Given the description of an element on the screen output the (x, y) to click on. 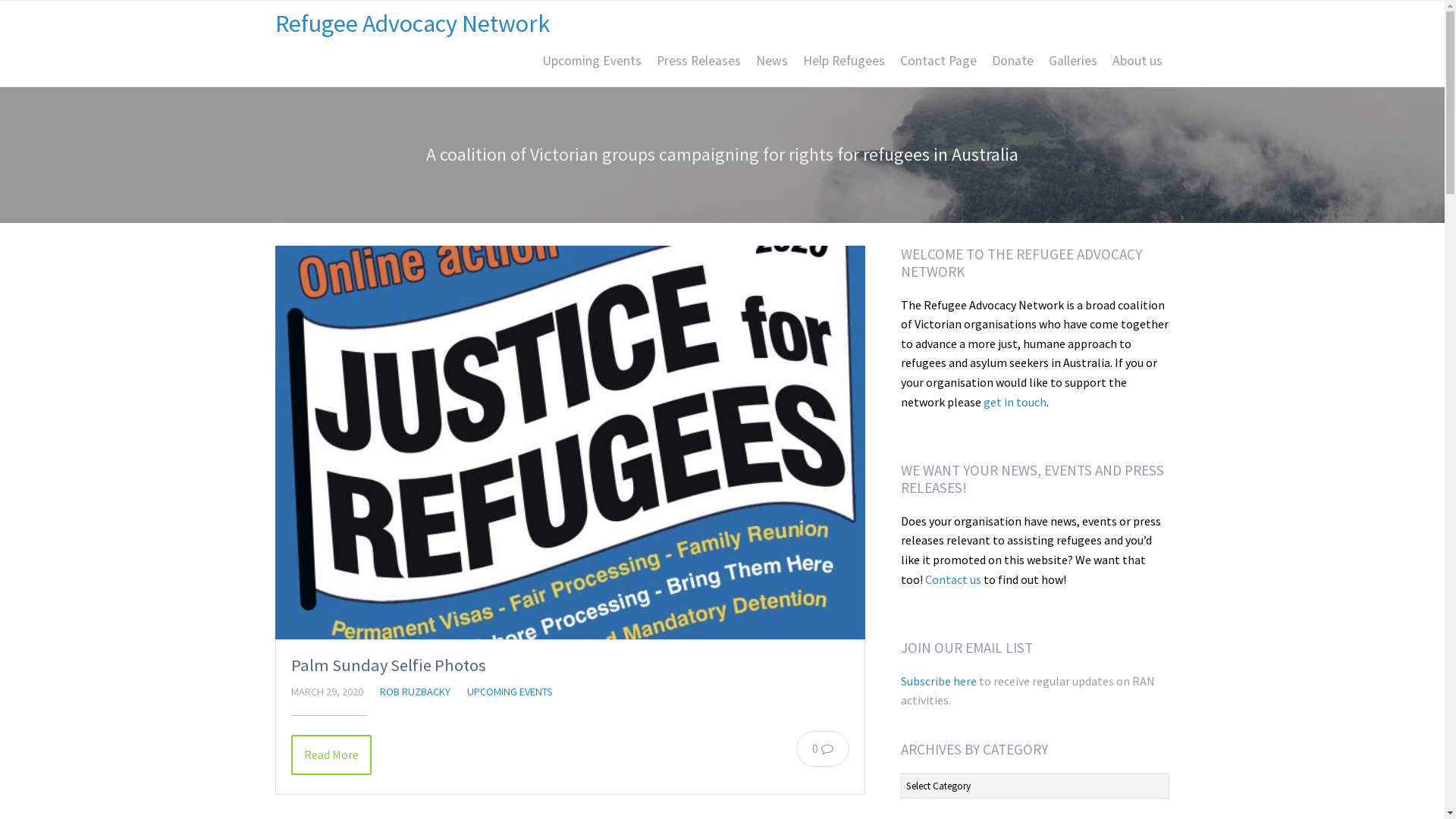
Donate Element type: text (1012, 60)
Contact Page Element type: text (937, 60)
ROB RUZBACKY Element type: text (414, 691)
Help Refugees Element type: text (842, 60)
Refugee Advocacy Network Element type: text (411, 23)
UPCOMING EVENTS Element type: text (509, 691)
get in touch Element type: text (1014, 401)
About us Element type: text (1136, 60)
Palm Sunday Selfie Photos Element type: text (388, 664)
Read More Element type: text (331, 754)
Contact us Element type: text (953, 578)
Subscribe here Element type: text (938, 680)
Galleries Element type: text (1072, 60)
News Element type: text (770, 60)
Go to Palm Sunday Selfie Photos Element type: hover (569, 442)
Upcoming Events Element type: text (590, 60)
0 Element type: text (822, 748)
Press Releases Element type: text (698, 60)
